Given the description of an element on the screen output the (x, y) to click on. 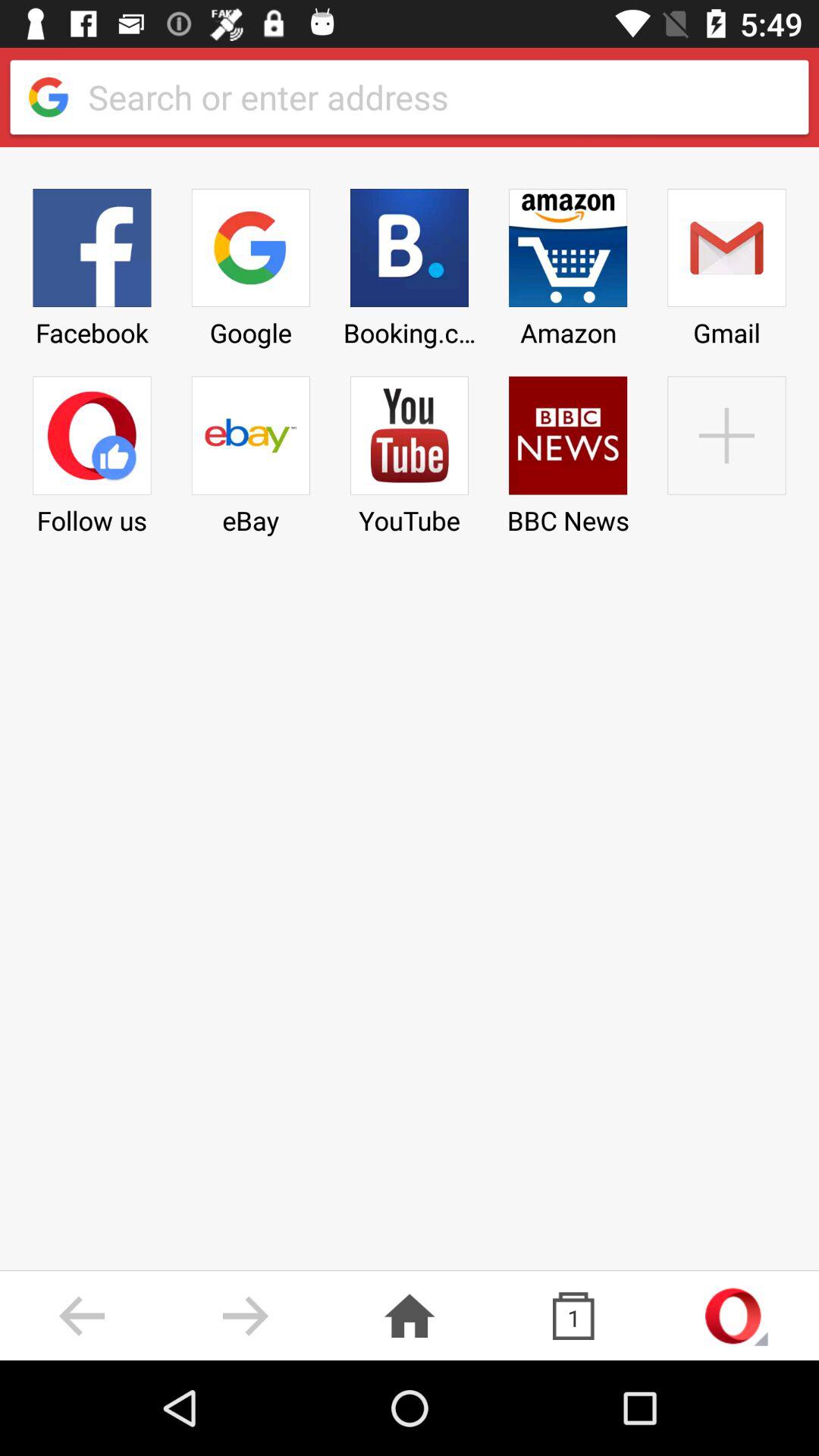
open icon to the right of the google (409, 262)
